Given the description of an element on the screen output the (x, y) to click on. 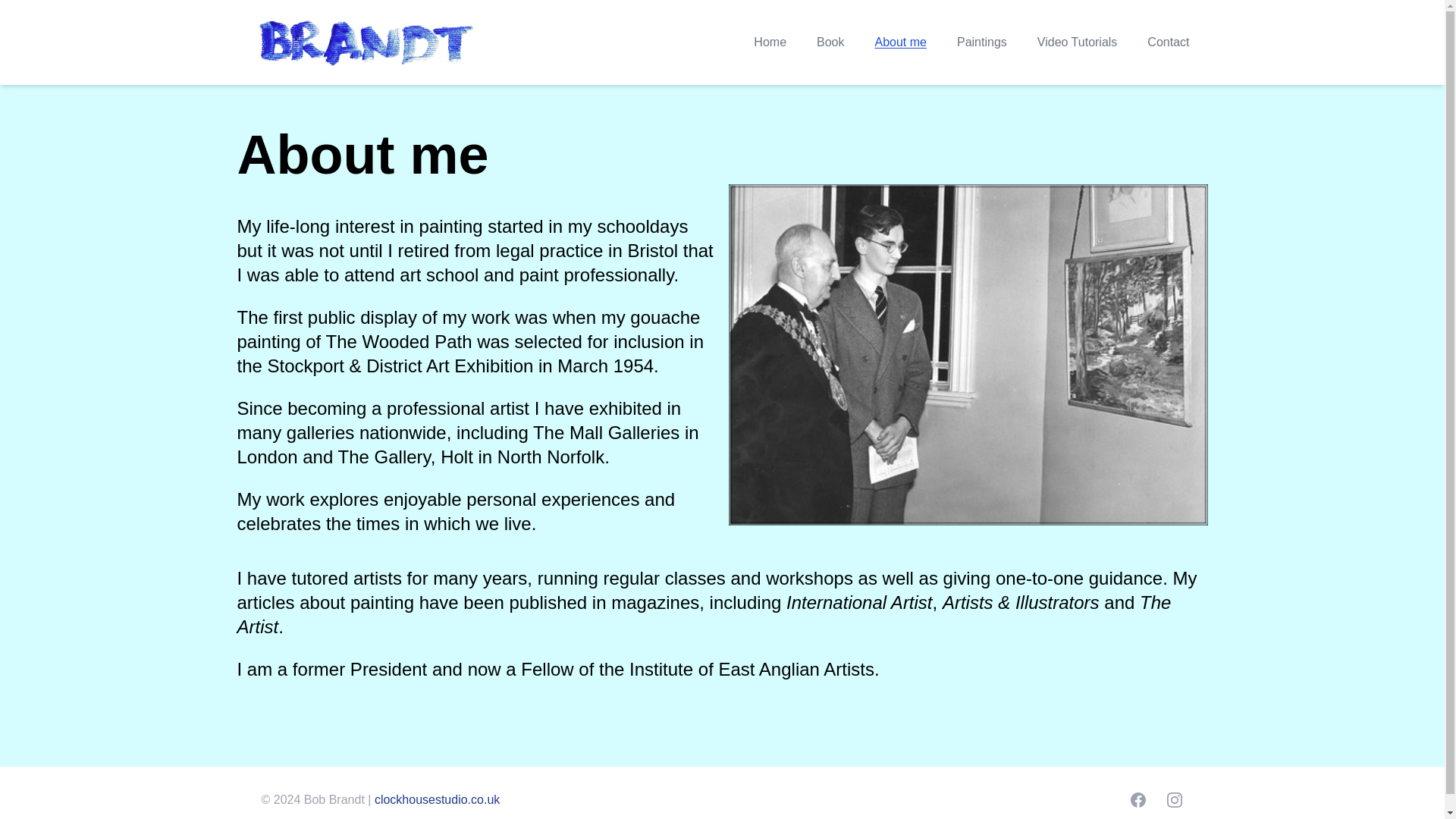
Book (830, 42)
Home (770, 42)
clockhousestudio.co.uk (436, 799)
Instagram (1173, 800)
Video Tutorials (1077, 42)
Facebook (1137, 800)
Contact (1168, 42)
Bob Brandt (365, 42)
Paintings (981, 42)
About me (900, 42)
